Given the description of an element on the screen output the (x, y) to click on. 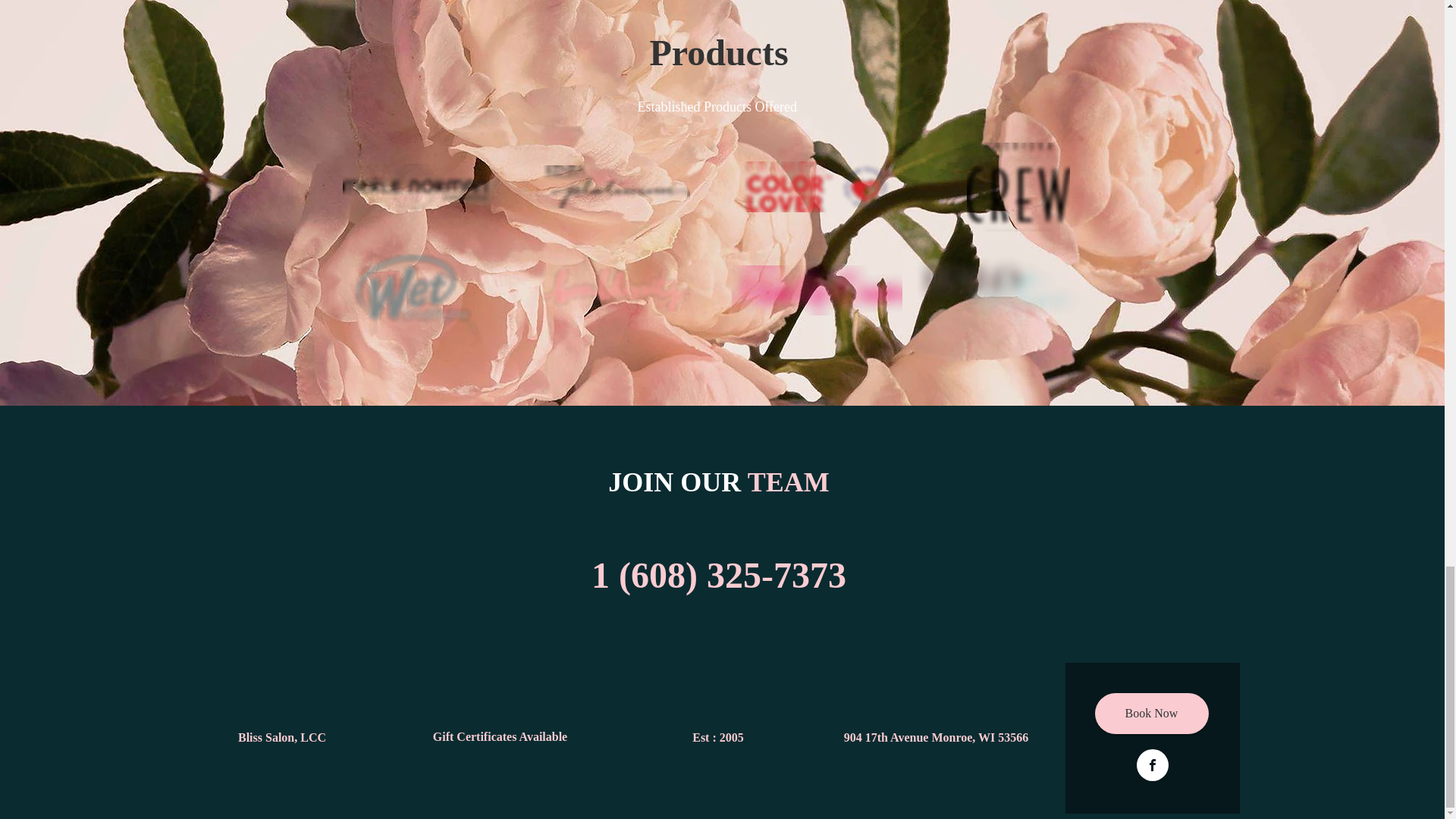
Book Now (1151, 712)
